Given the description of an element on the screen output the (x, y) to click on. 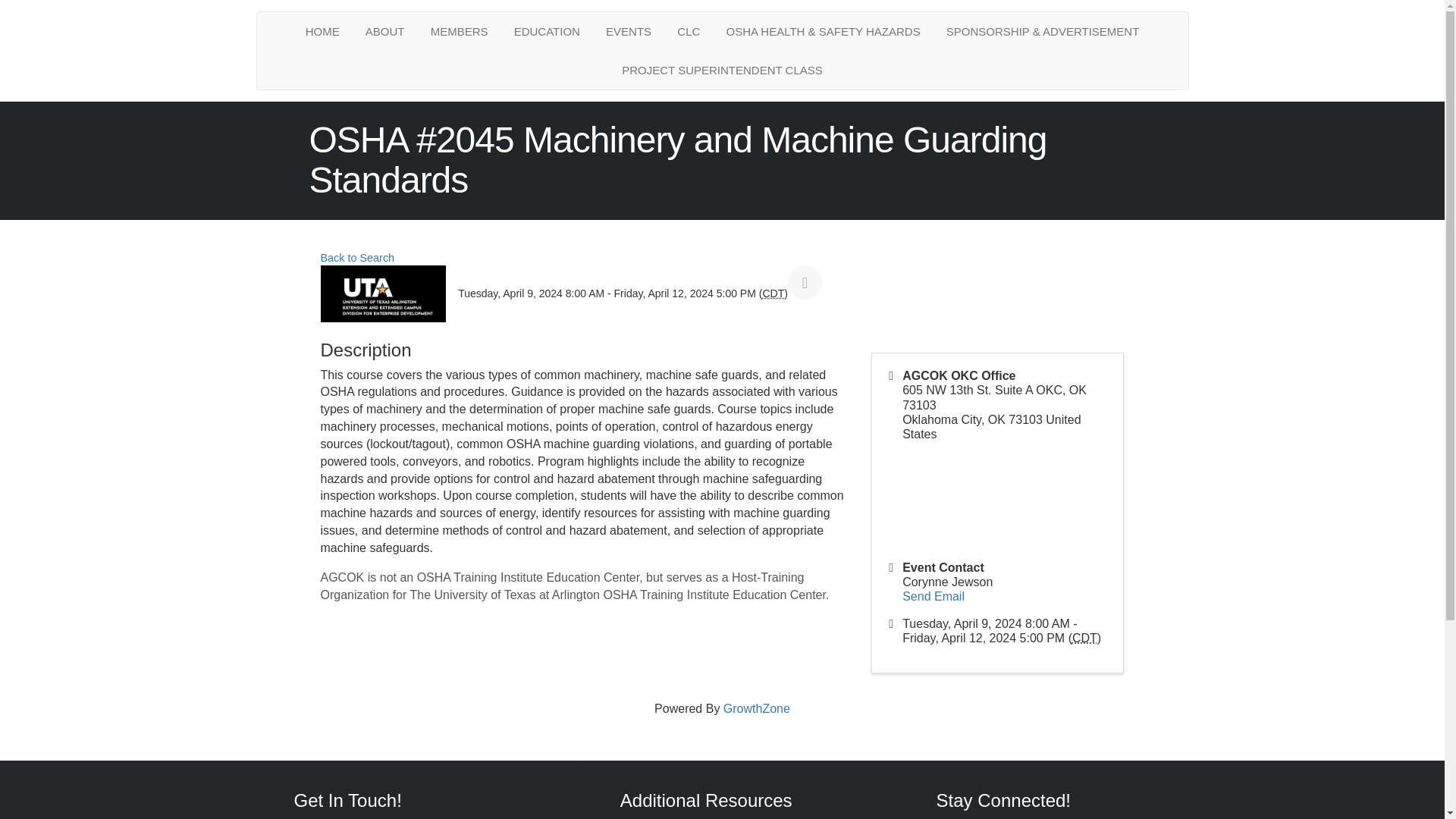
HOME (322, 31)
ABOUT (384, 31)
MEMBERS (459, 31)
Send Email (932, 595)
